Given the description of an element on the screen output the (x, y) to click on. 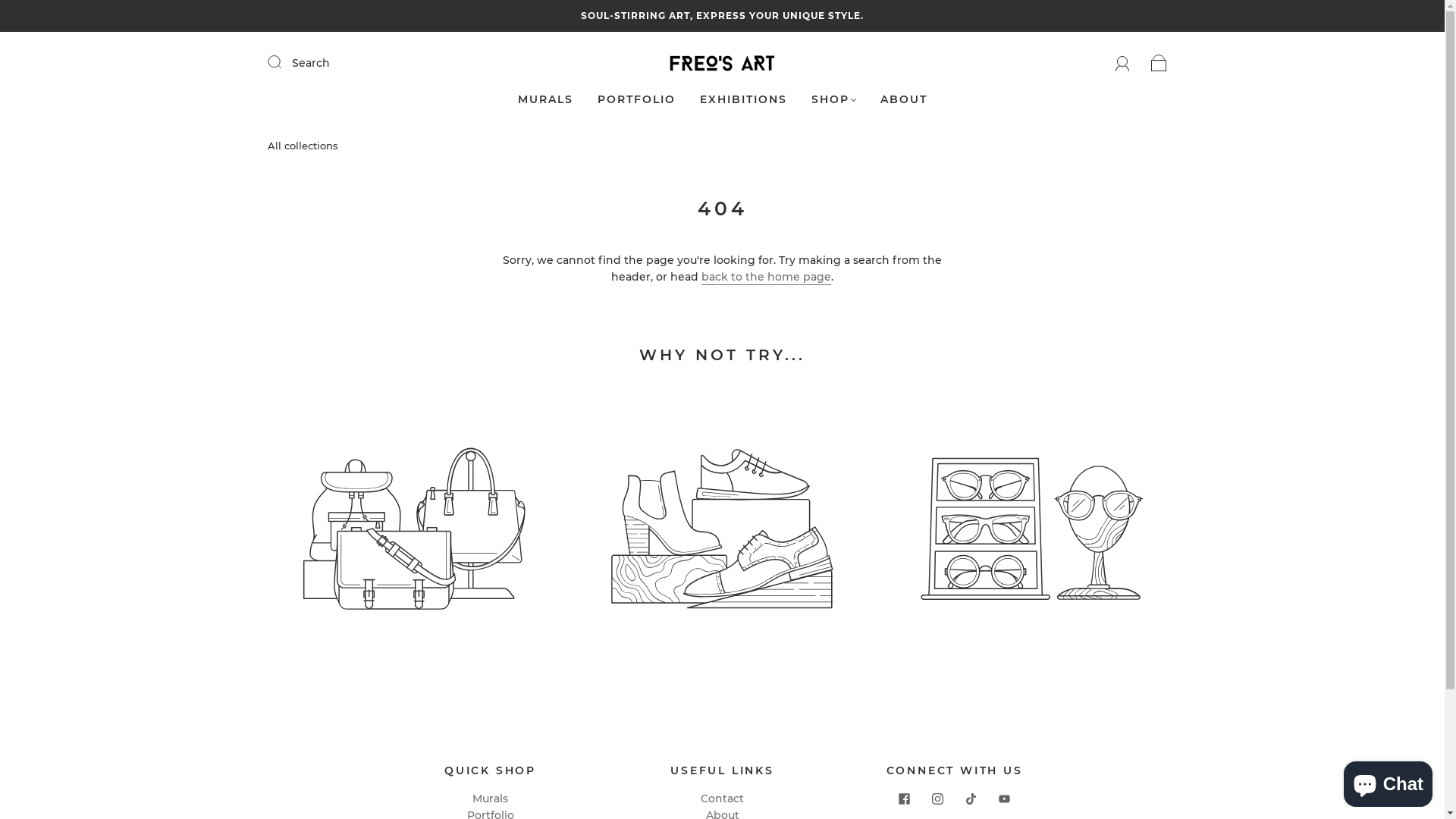
All collections Element type: text (301, 145)
EXHIBITIONS Element type: text (742, 99)
back to the home page Element type: text (766, 277)
PORTFOLIO Element type: text (636, 99)
Murals Element type: text (490, 798)
MURALS Element type: text (544, 99)
SHOP Element type: text (833, 99)
Contact Element type: text (721, 798)
Shopify online store chat Element type: hover (1388, 780)
ABOUT Element type: text (902, 99)
